Given the description of an element on the screen output the (x, y) to click on. 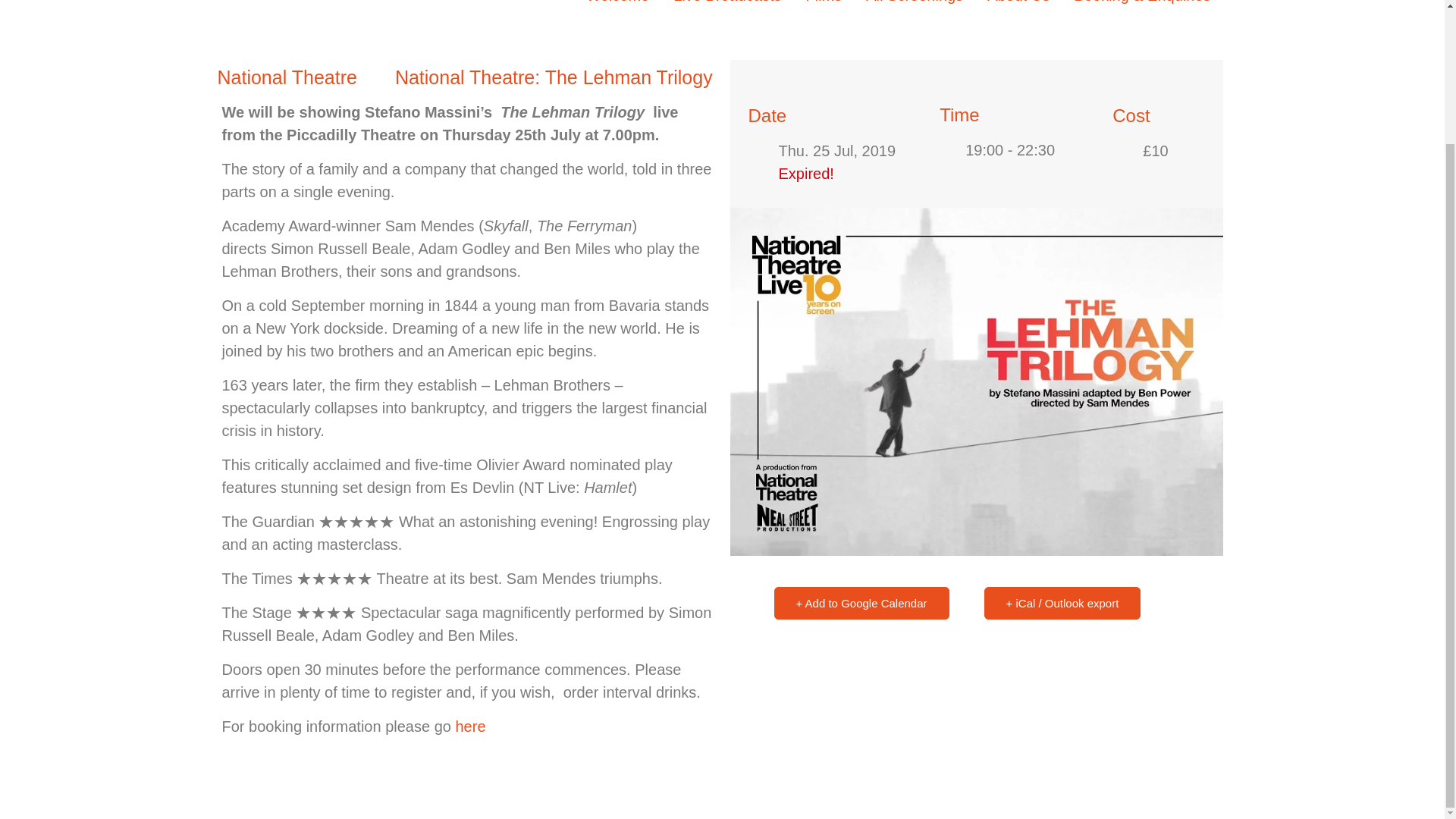
Live Broadcasts (727, 3)
Welcome (617, 3)
About Us (1018, 3)
All Screenings (914, 3)
here (469, 726)
Films (823, 3)
